Given the description of an element on the screen output the (x, y) to click on. 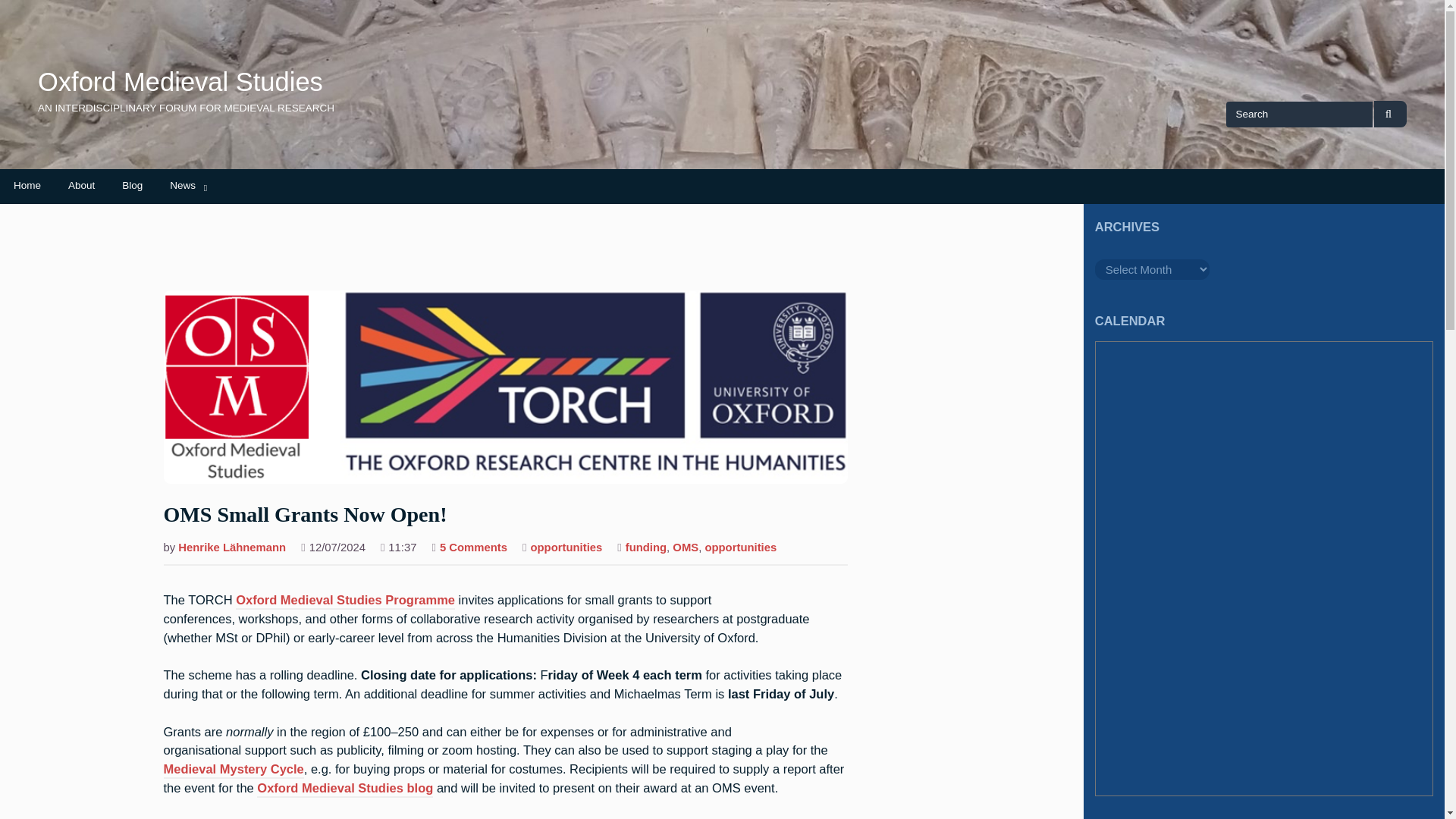
opportunities (565, 548)
funding (646, 548)
OMS (685, 548)
News (182, 185)
About (81, 185)
Search (1390, 113)
opportunities (472, 548)
Blog (740, 548)
Oxford Medieval Studies (131, 185)
